Given the description of an element on the screen output the (x, y) to click on. 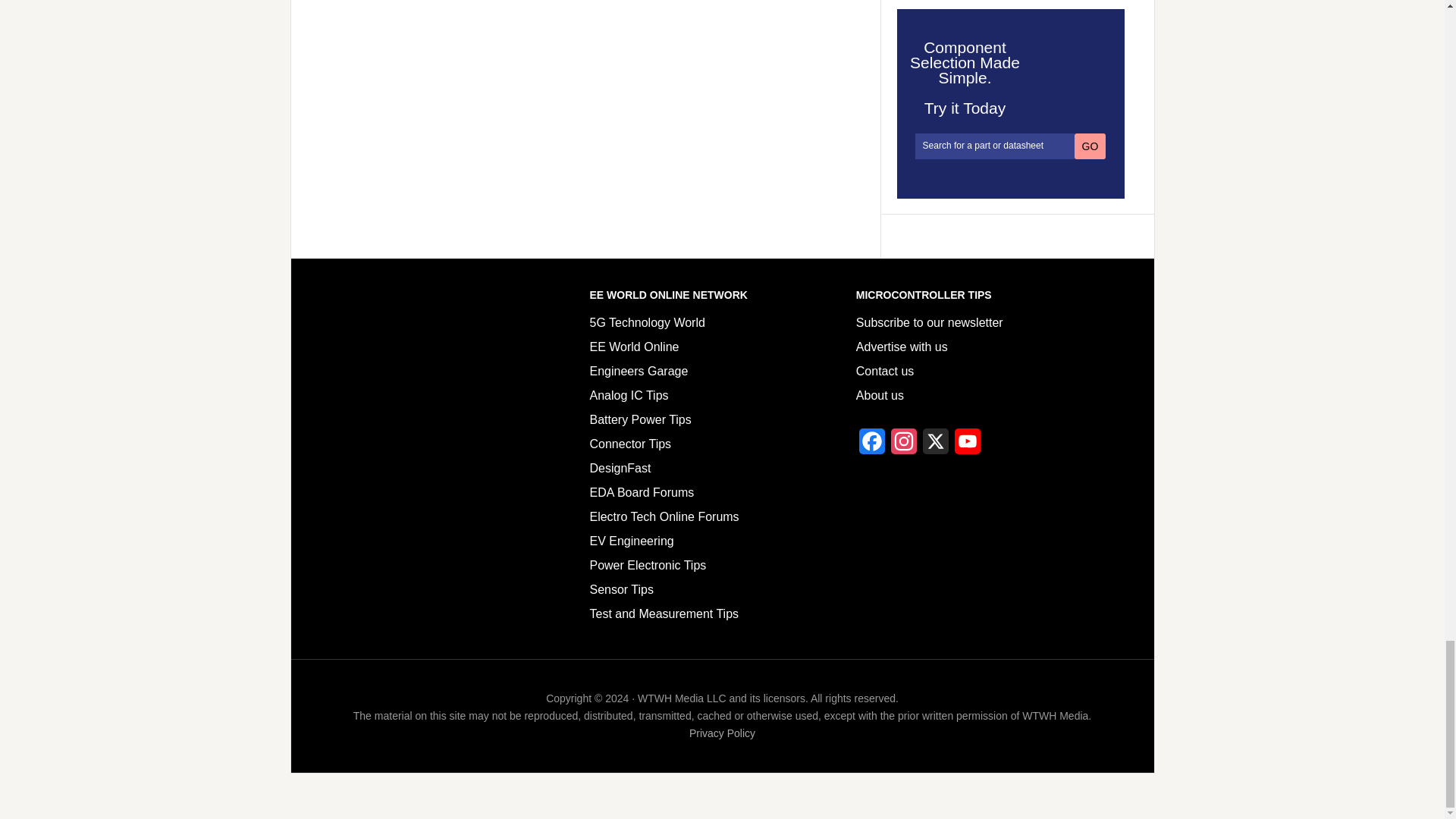
X (936, 445)
Facebook (872, 445)
YouTube Channel (968, 445)
GO (1090, 145)
Instagram (904, 445)
